Given the description of an element on the screen output the (x, y) to click on. 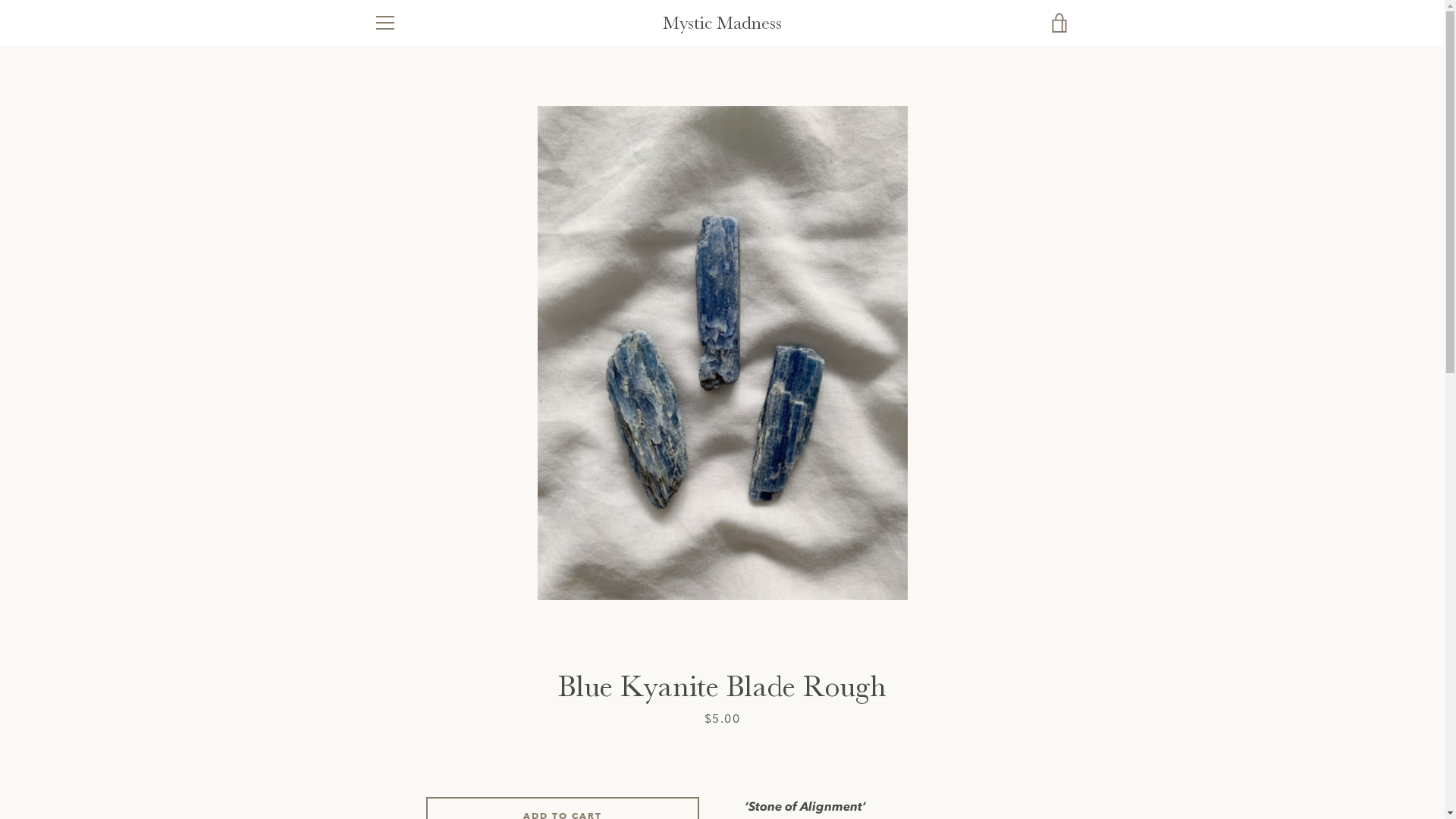
TERMS & CONDITIONS Element type: text (429, 585)
CONTACT US Element type: text (406, 652)
SHIPPING Element type: text (398, 607)
Facebook Element type: text (372, 765)
DISCLAIMER Element type: text (404, 630)
Skip to content Element type: text (0, 0)
Powered by Shopify Element type: text (768, 766)
Mystic Madness Element type: text (736, 756)
Instagram Element type: text (424, 765)
REFUND POLICY Element type: text (414, 674)
SUBSCRIBE Element type: text (1031, 671)
Pinterest Element type: text (398, 765)
MENU Element type: text (384, 22)
Mystic Madness Element type: text (721, 23)
PRIVACY POLICY Element type: text (416, 696)
VIEW CART Element type: text (1059, 22)
